Given the description of an element on the screen output the (x, y) to click on. 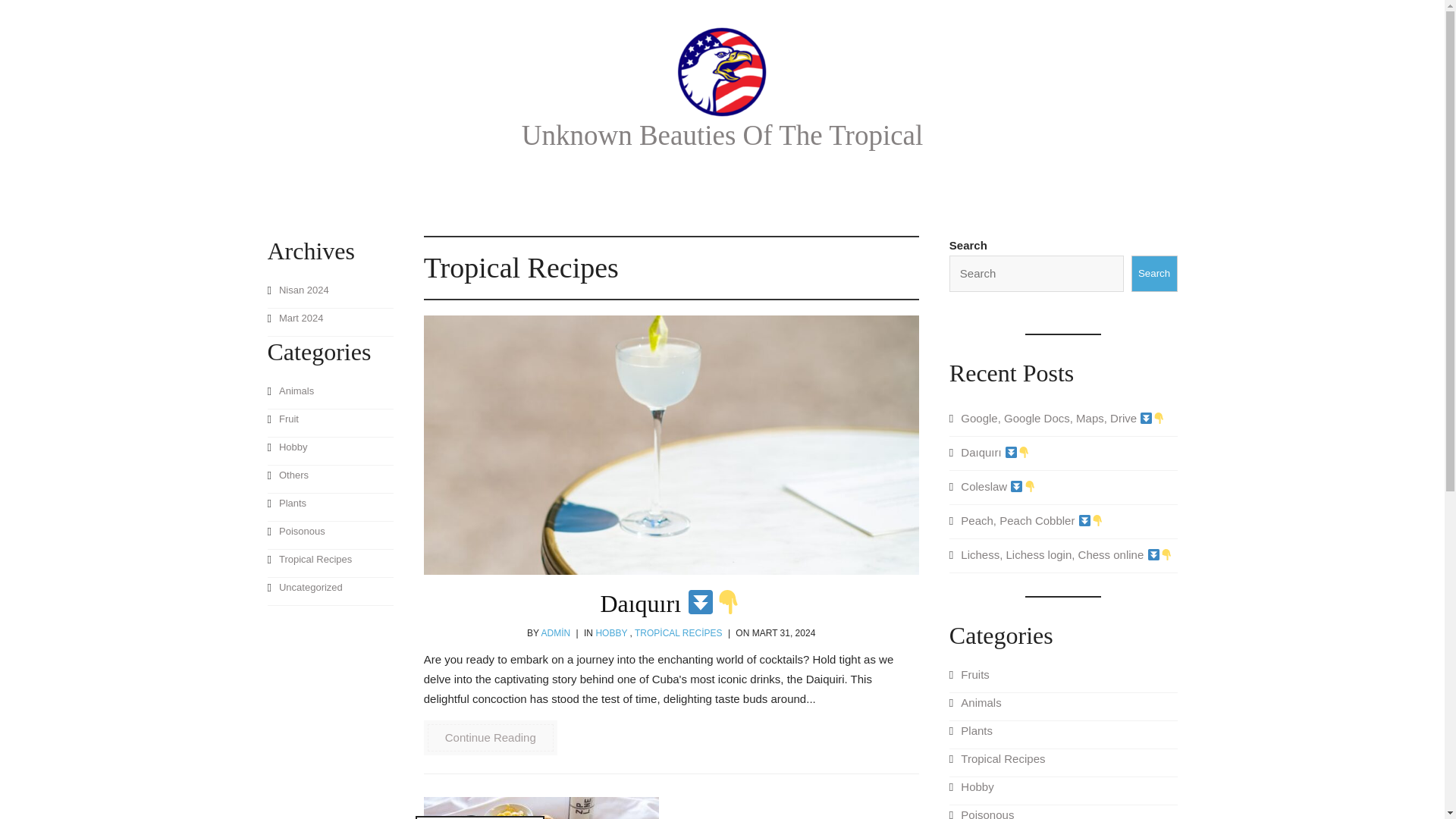
Others (329, 479)
Google, Google Docs, Maps, Drive (1063, 422)
TROPICAL RECIPES (678, 633)
Tropical Recipes (329, 563)
Peach, Peach Cobbler (1063, 524)
Poisonous (1063, 812)
Continue Reading (490, 737)
Unknown Beauties Of The Tropical (722, 134)
Animals (329, 395)
Uncategorized (329, 592)
Animals (1063, 706)
Plants (329, 507)
Nisan 2024 (329, 294)
Mart 2024 (329, 322)
Ara (20, 15)
